Given the description of an element on the screen output the (x, y) to click on. 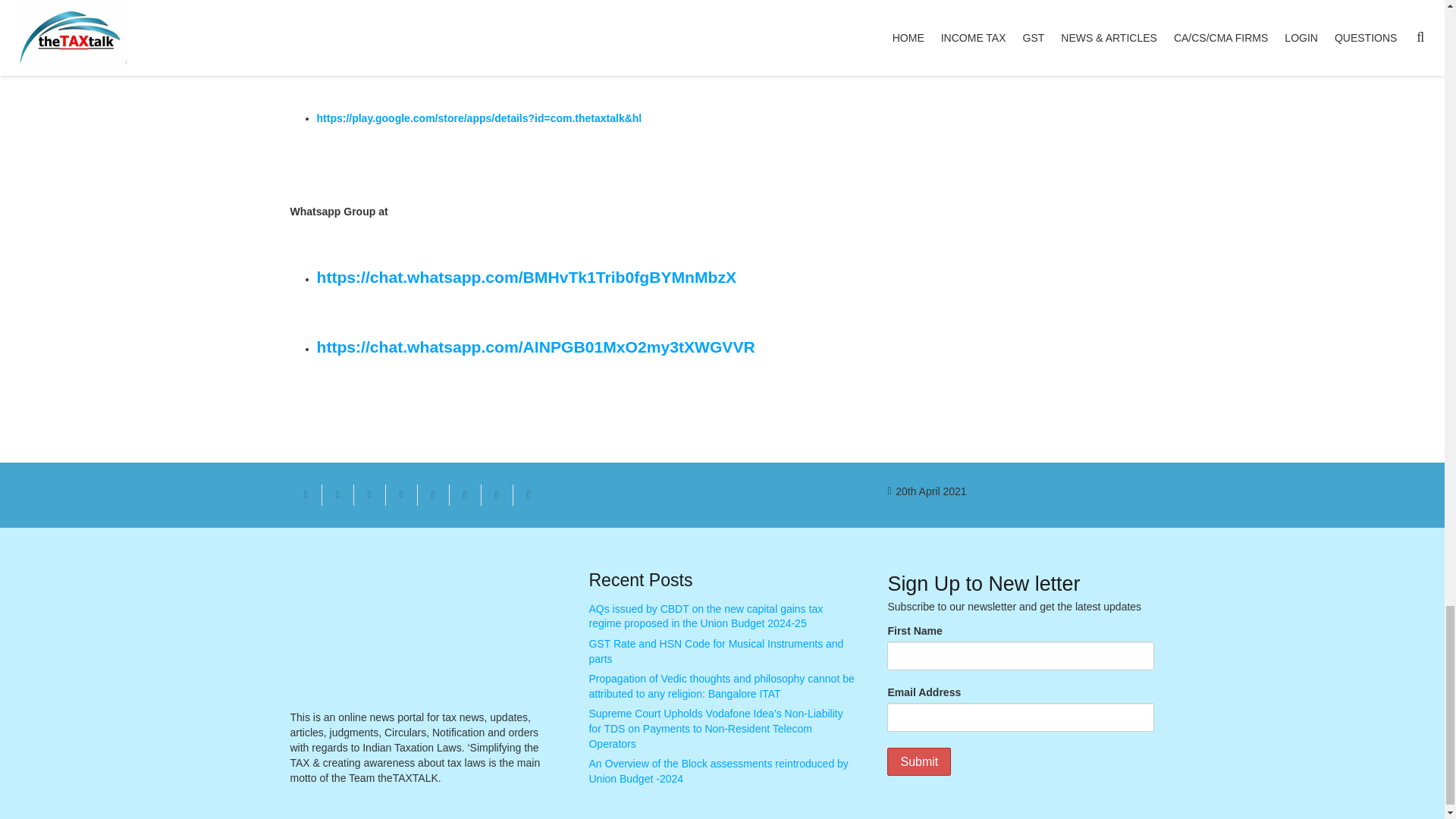
Tweet this (369, 495)
Share this (464, 495)
Submit (918, 761)
Share this (337, 495)
Pin this (432, 495)
Share this (400, 495)
Share this (528, 495)
Email this (305, 495)
Share this (496, 495)
